Given the description of an element on the screen output the (x, y) to click on. 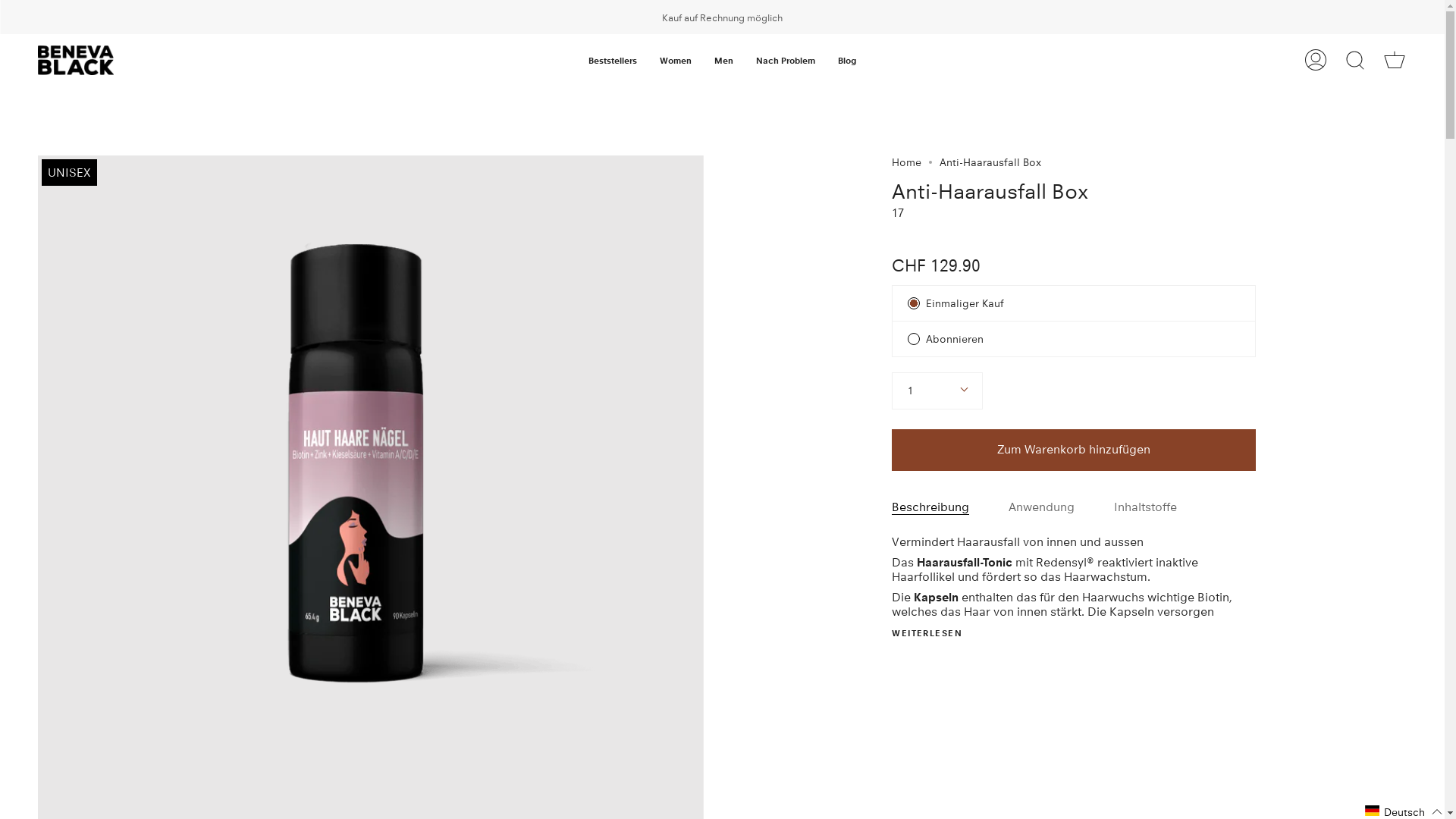
Blog Element type: text (846, 60)
Nach Problem Element type: text (785, 60)
Home Element type: text (906, 162)
Suchen Element type: text (1354, 60)
Mein Kundenkonto Element type: text (1315, 60)
Beststellers Element type: text (612, 60)
1 Element type: text (936, 390)
Warenkorb Element type: text (1394, 60)
WEITERLESEN Element type: text (926, 632)
Men Element type: text (723, 60)
Women Element type: text (675, 60)
